Given the description of an element on the screen output the (x, y) to click on. 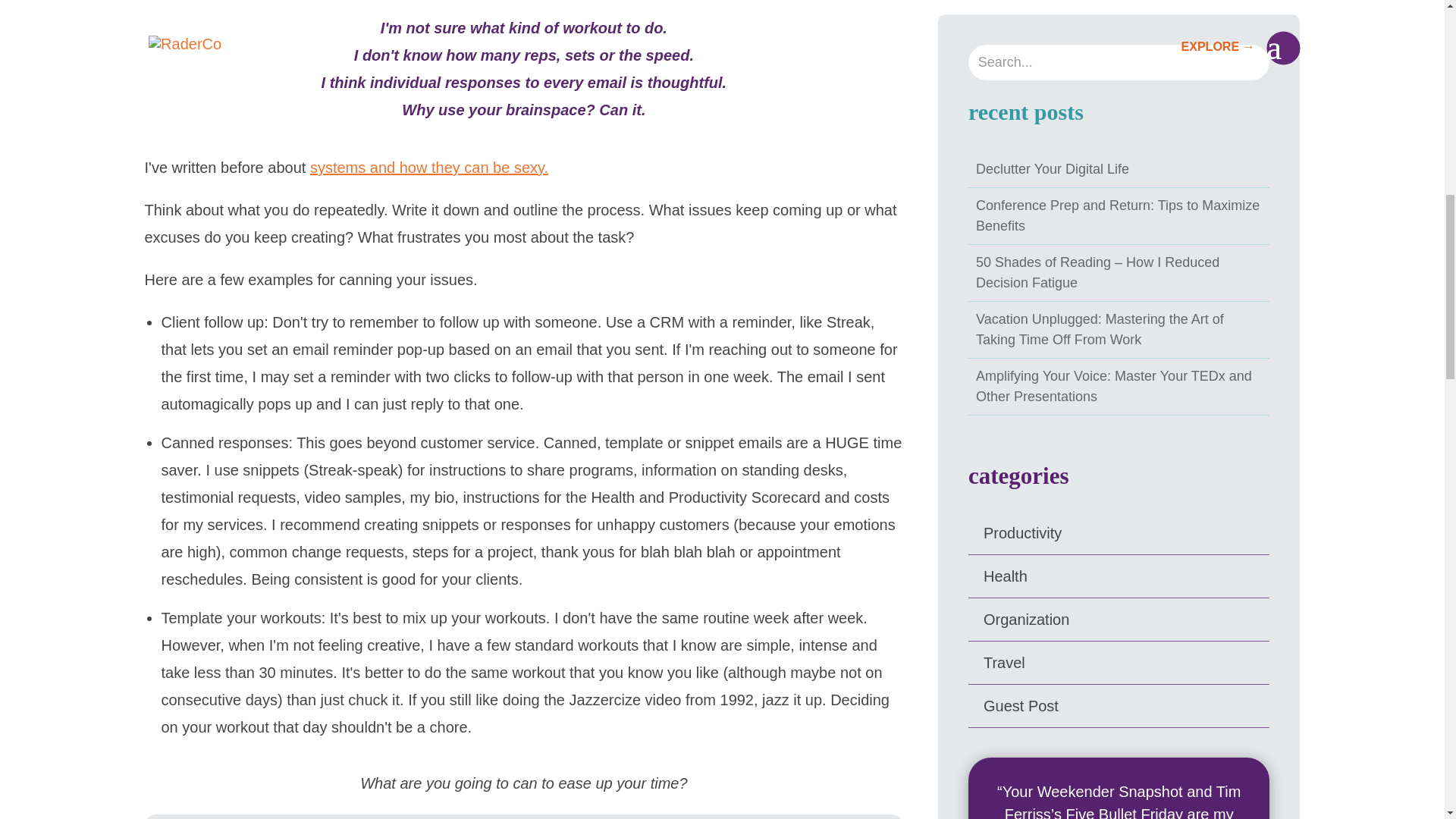
Health (1005, 576)
Guest Post (1021, 705)
Organization (1026, 619)
Sexy Systems to Save You (429, 167)
systems and how they can be sexy. (429, 167)
Conference Prep and Return: Tips to Maximize Benefits (1117, 215)
Travel (1004, 662)
Declutter Your Digital Life (1052, 168)
Productivity (1022, 532)
